Given the description of an element on the screen output the (x, y) to click on. 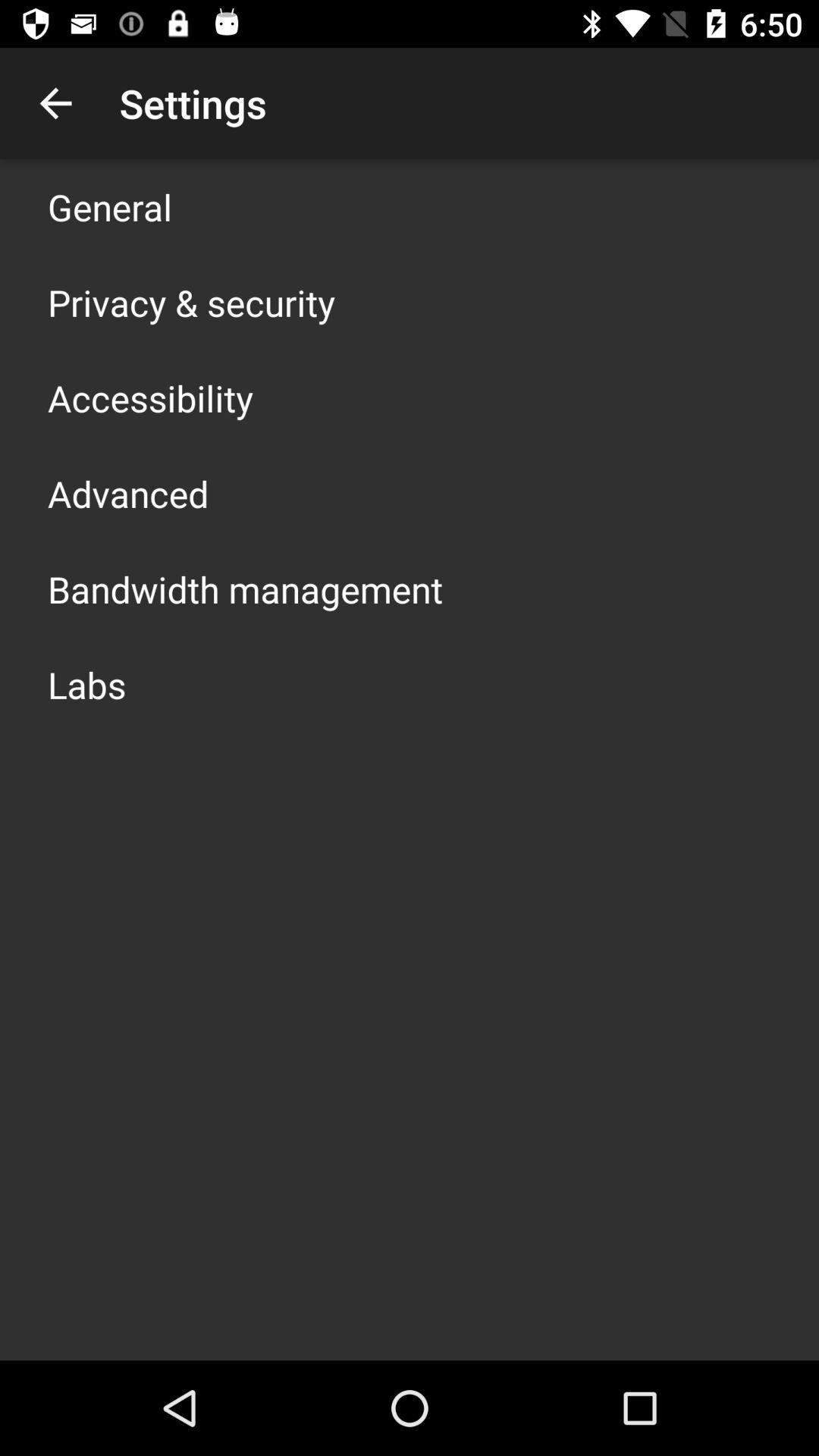
click accessibility app (150, 397)
